Given the description of an element on the screen output the (x, y) to click on. 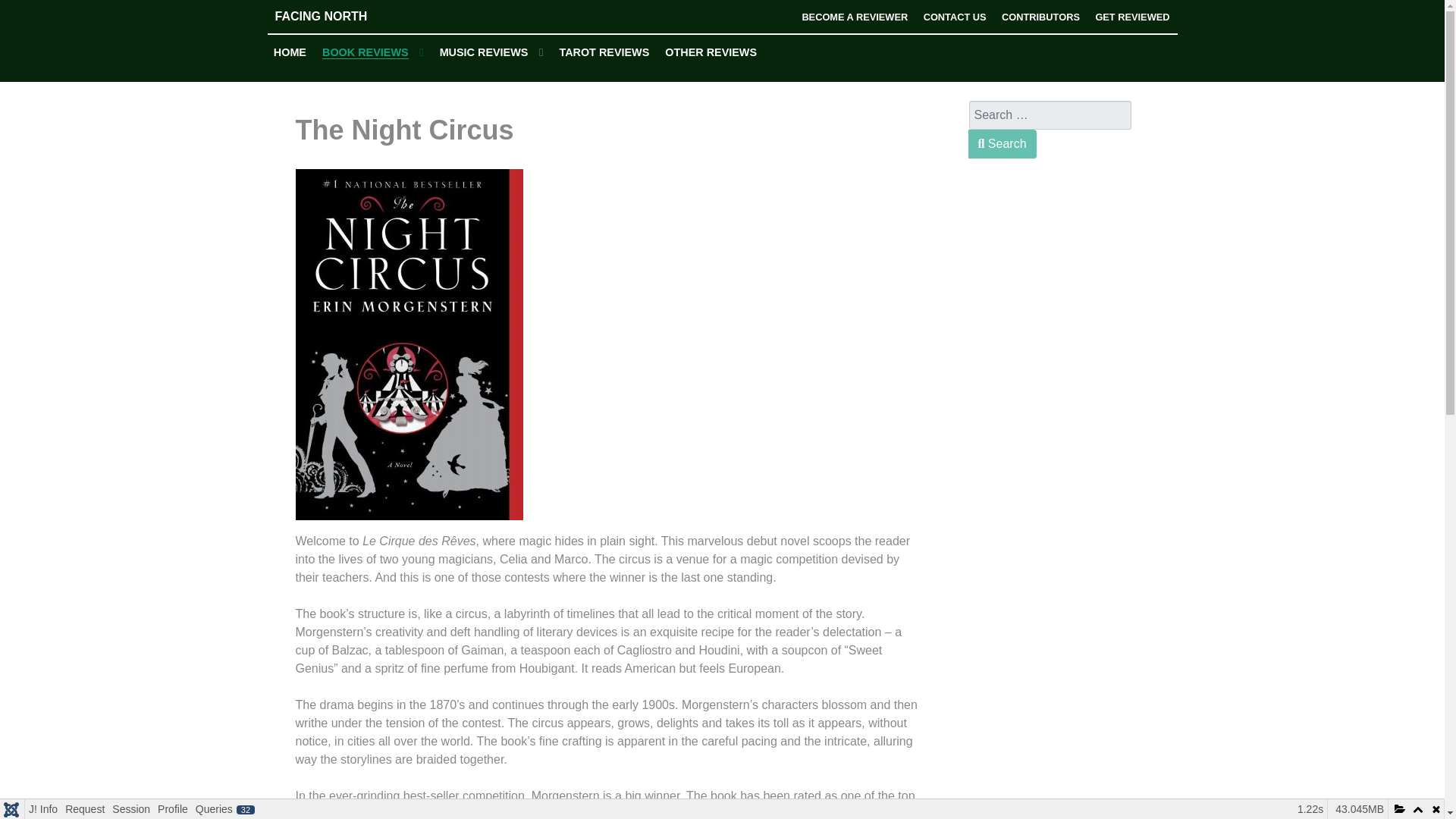
HOME (289, 52)
FACING NORTH (380, 16)
CONTACT US (955, 16)
CONTRIBUTORS (1040, 16)
GET REVIEWED (1131, 16)
BECOME A REVIEWER (854, 16)
Become a Reviewer (854, 16)
BOOK REVIEWS (373, 52)
Contact Us (955, 16)
Facing North (380, 16)
